Given the description of an element on the screen output the (x, y) to click on. 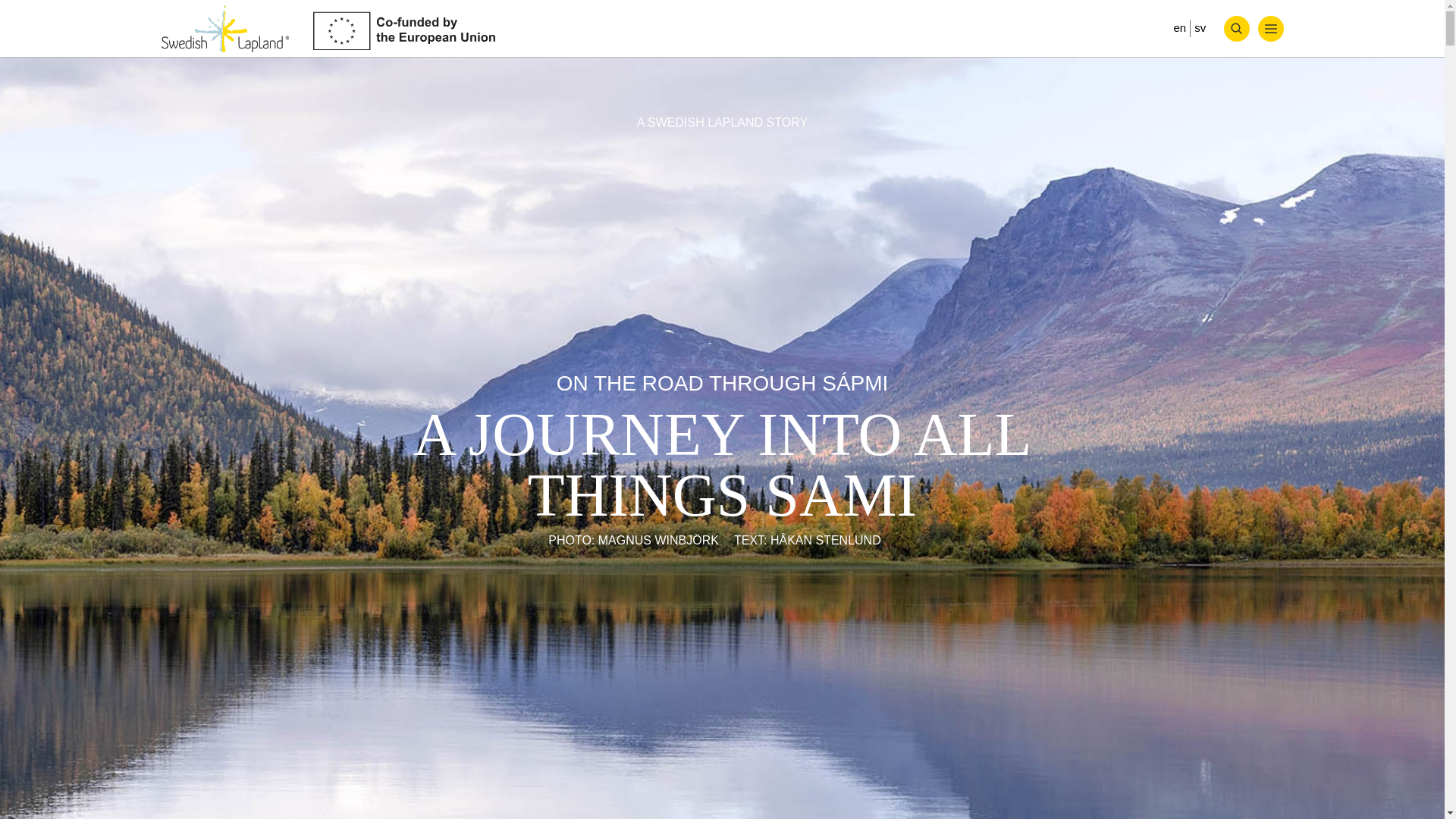
en (1179, 27)
sv (1200, 27)
